Given the description of an element on the screen output the (x, y) to click on. 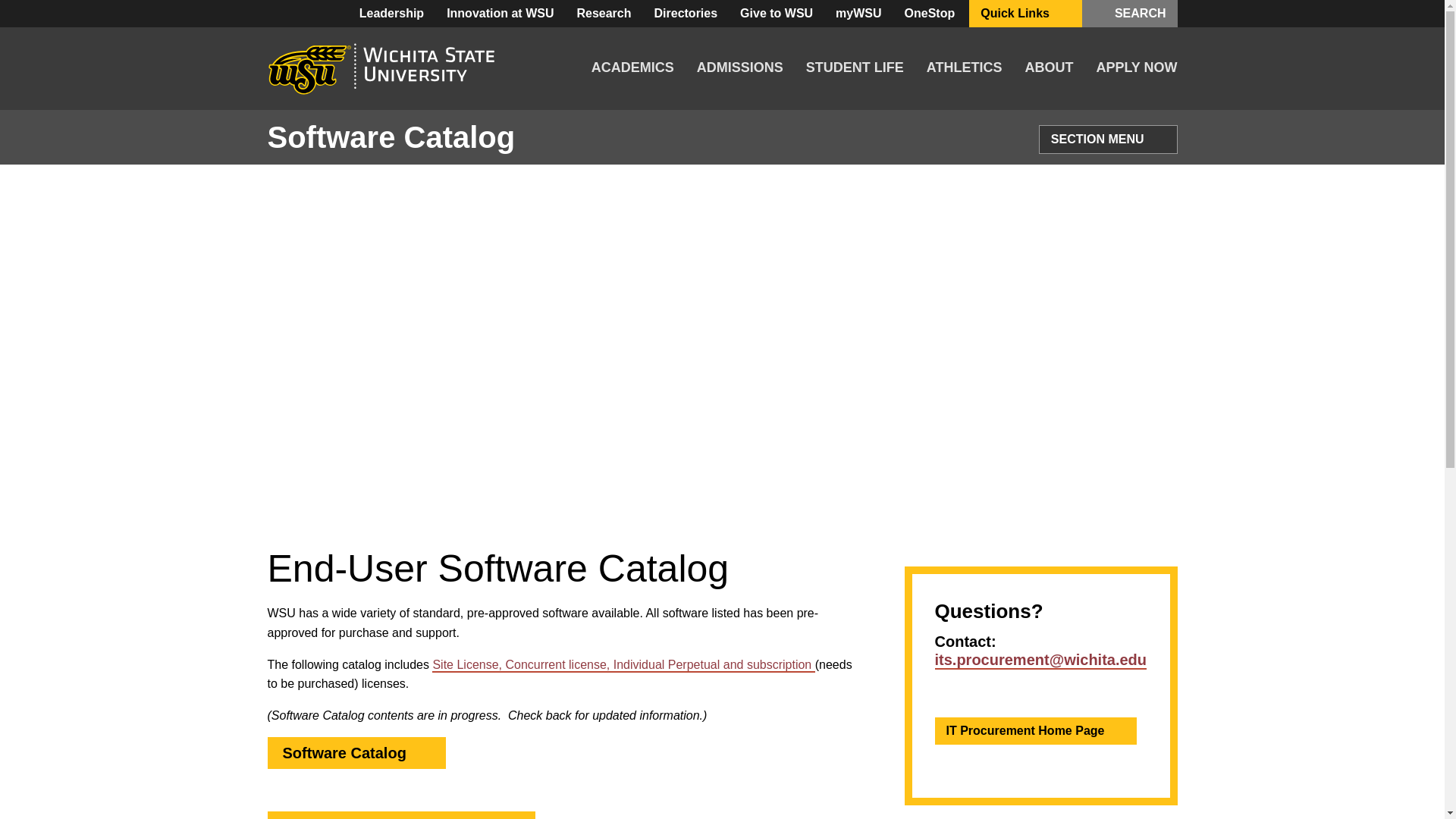
Quick Links (1025, 13)
Software Catalog (422, 752)
Leadership (391, 13)
OneStop (929, 13)
Directories (686, 13)
Open Search (1107, 13)
Open Quicklinks (1063, 13)
Open Section Links (1157, 139)
SEARCH (1129, 13)
myWSU (858, 13)
